Given the description of an element on the screen output the (x, y) to click on. 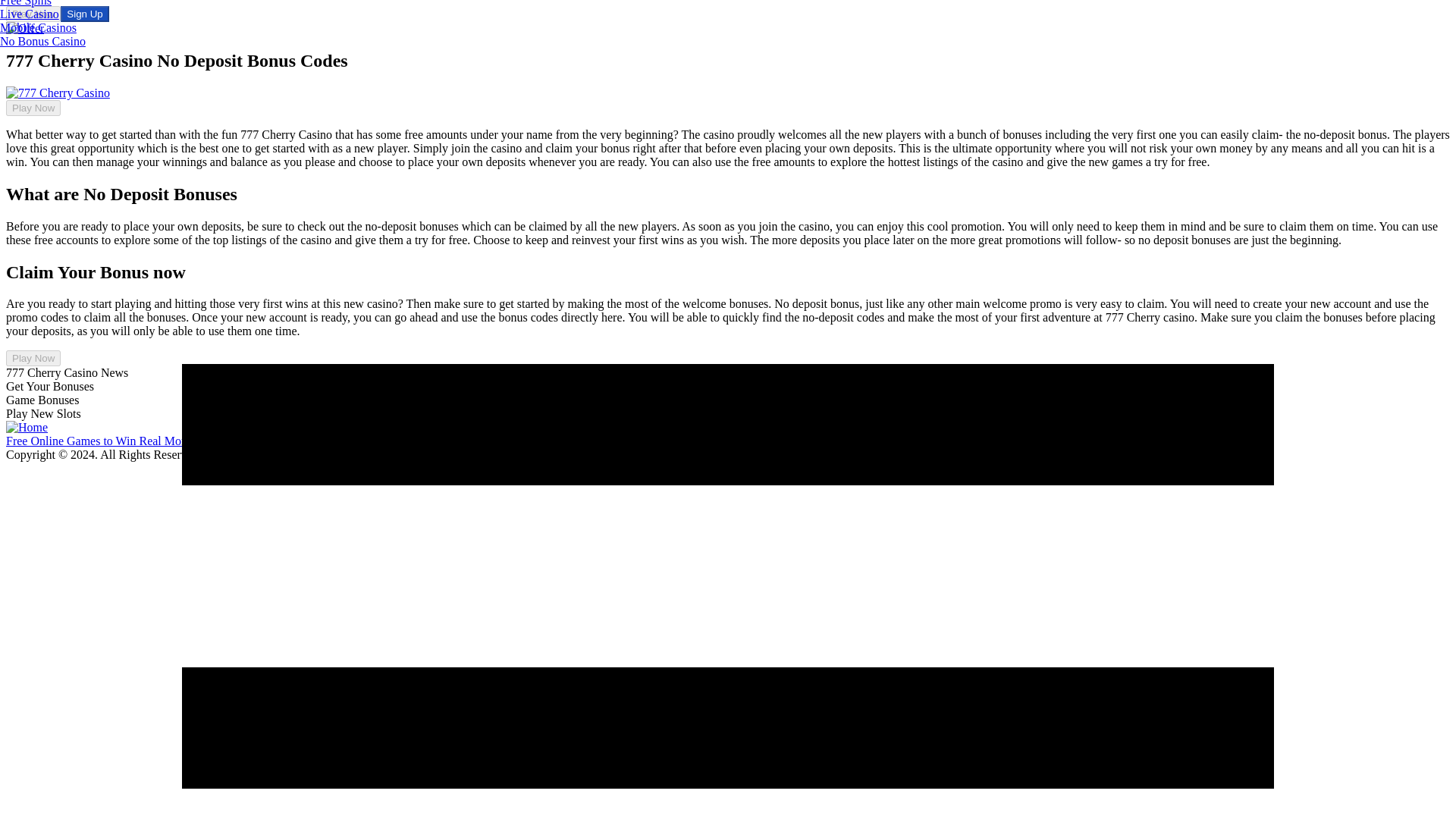
Sign Up (84, 13)
Online Casino Payment Methods (526, 440)
Play Now (33, 358)
Free Online Games to Win Real Money No Deposit (131, 440)
Online Slots Tournaments (1002, 440)
No Deposit Bonus (400, 440)
Play Now (33, 13)
Play Now (33, 107)
Online Casino Table Games for Real Money (831, 440)
Online Casino Software (665, 440)
HighRoller Bonuses (306, 440)
Real Time Gaming Slots (1125, 440)
